Given the description of an element on the screen output the (x, y) to click on. 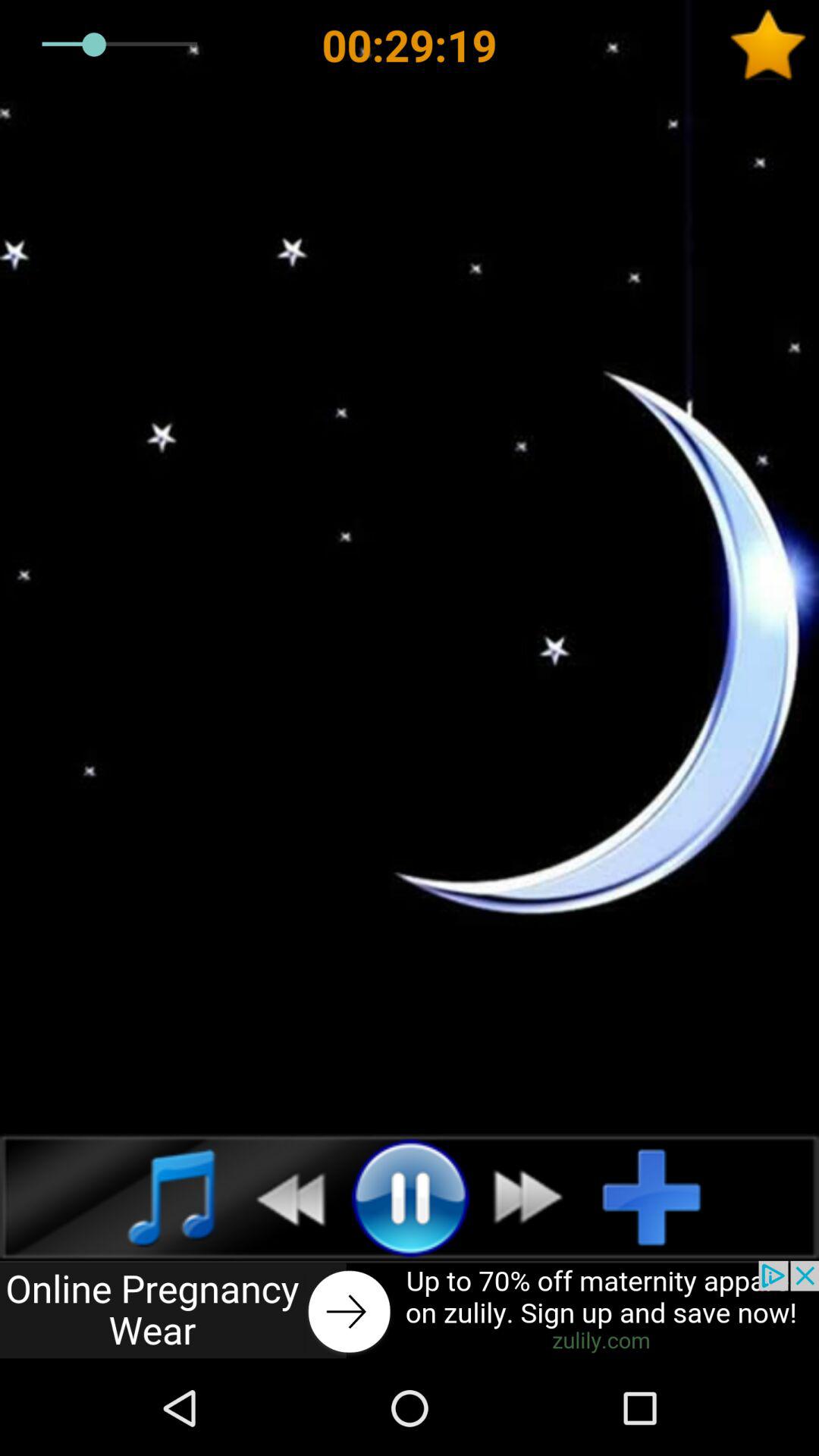
previous song (281, 1196)
